Given the description of an element on the screen output the (x, y) to click on. 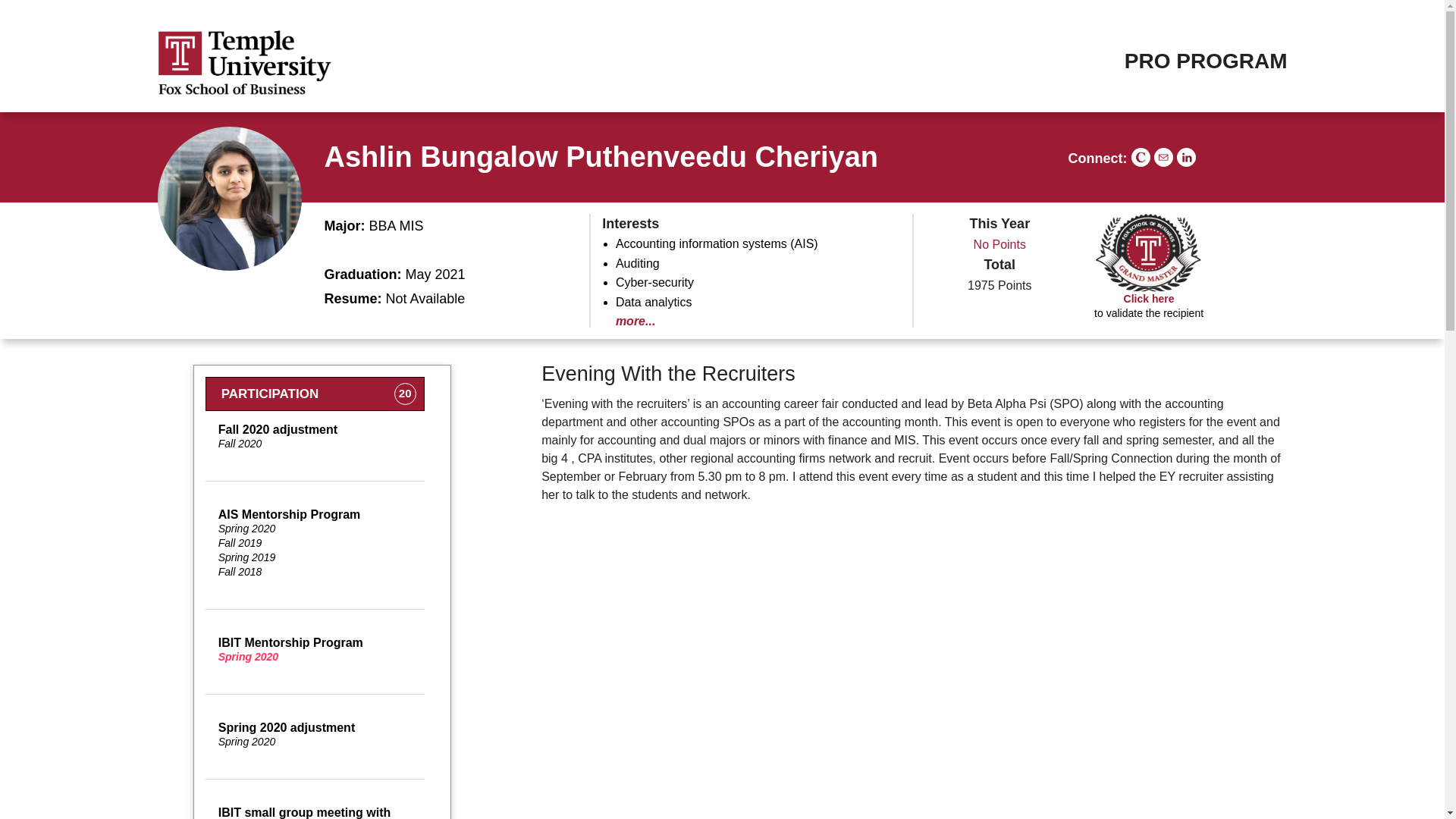
Ashlin Bungalow Puthenveedu Cheriyan (315, 648)
No Points (601, 156)
more... (999, 243)
Click here (635, 320)
